Given the description of an element on the screen output the (x, y) to click on. 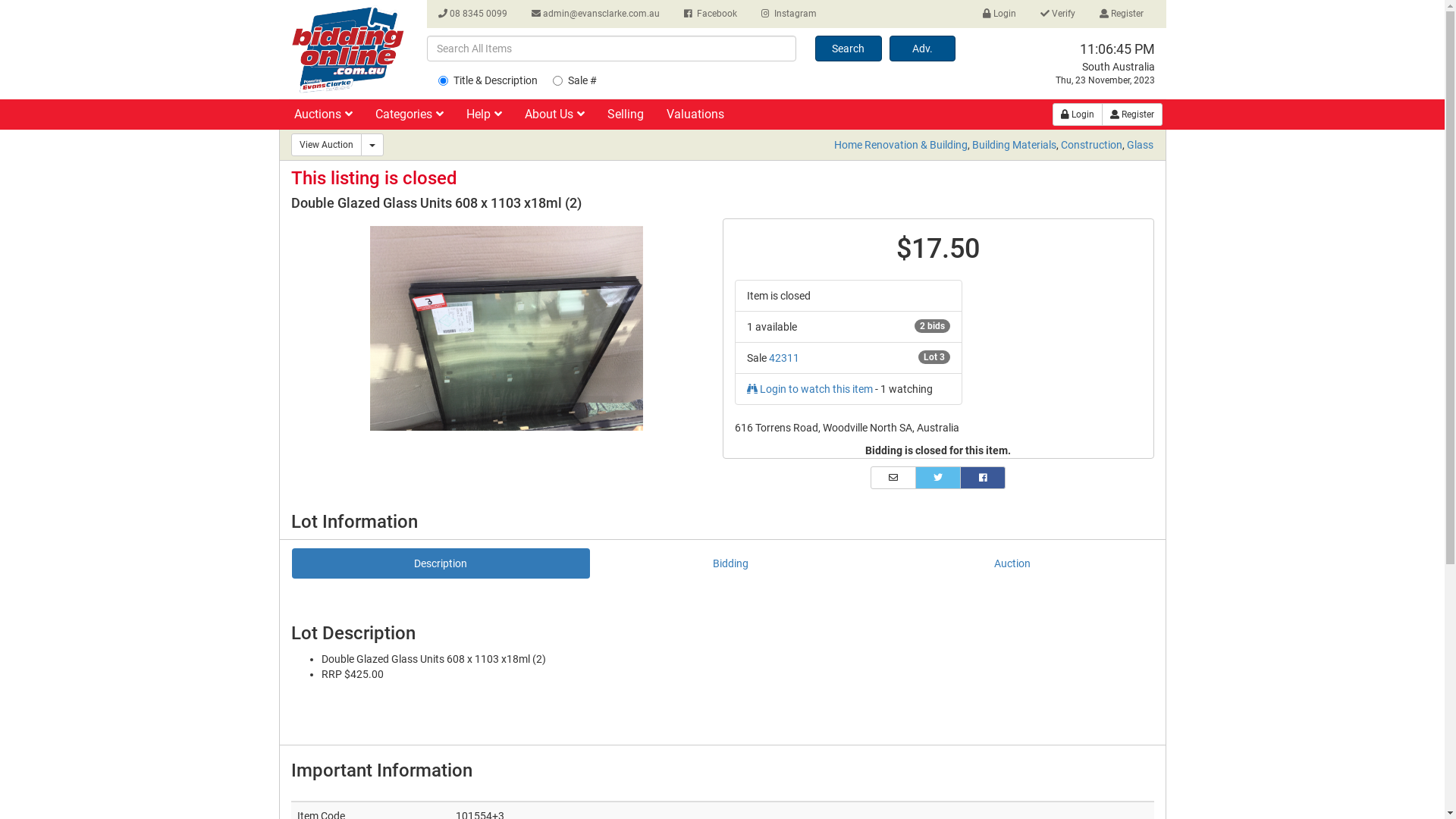
Glass Element type: text (1139, 144)
 admin@evansclarke.com.au Element type: text (595, 14)
Auctions Element type: text (323, 117)
42311 Element type: text (783, 357)
 Login Element type: text (1077, 114)
 Register Element type: text (1120, 14)
Bidding Element type: text (730, 563)
  Instagram Element type: text (788, 14)
Description Element type: text (440, 563)
Building Materials Element type: text (1014, 144)
Help Element type: text (483, 117)
 Verify Element type: text (1056, 14)
 Register Element type: text (1131, 114)
Valuations Element type: text (694, 117)
Construction Element type: text (1091, 144)
Adv. Element type: text (921, 48)
Login to watch this item Element type: text (810, 388)
Home Renovation & Building Element type: text (900, 144)
2 bids Element type: text (931, 325)
Categories Element type: text (408, 117)
 Login Element type: text (998, 14)
Search Element type: text (848, 48)
 08 8345 0099 Element type: text (471, 14)
Auction Element type: text (1012, 563)
About Us Element type: text (554, 117)
  Facebook Element type: text (709, 14)
Selling Element type: text (624, 117)
View Auction Element type: text (326, 144)
